Given the description of an element on the screen output the (x, y) to click on. 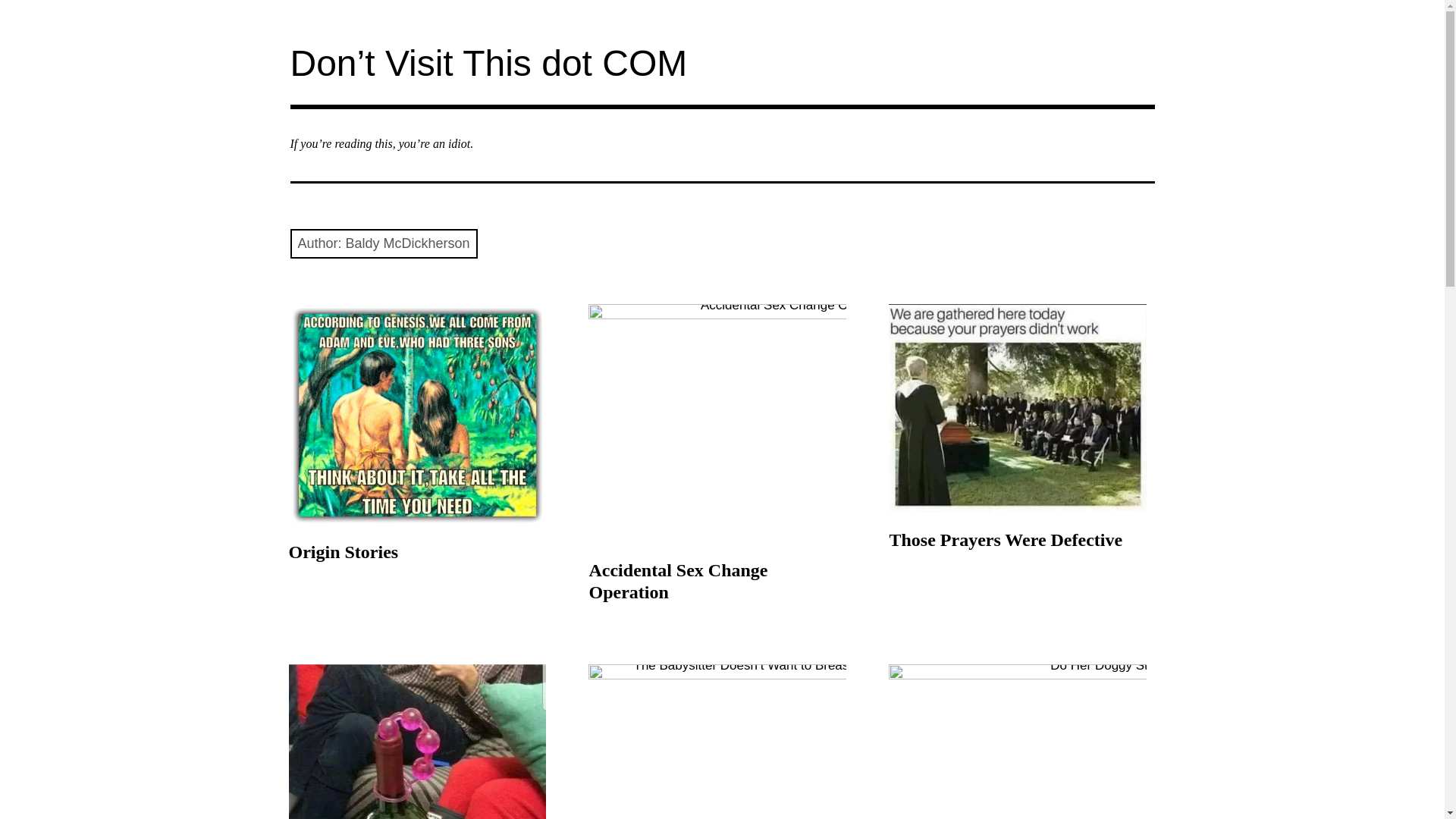
Those Prayers Were Defective (1005, 540)
Cool Wine Bottle Stopper (417, 741)
Origin Stories (342, 552)
Do Her Doggy Style (1017, 741)
Those Prayers Were Defective (1017, 408)
Accidental Sex Change Operation (677, 581)
Accidental Sex Change Operation (716, 423)
Origin Stories (417, 414)
